Given the description of an element on the screen output the (x, y) to click on. 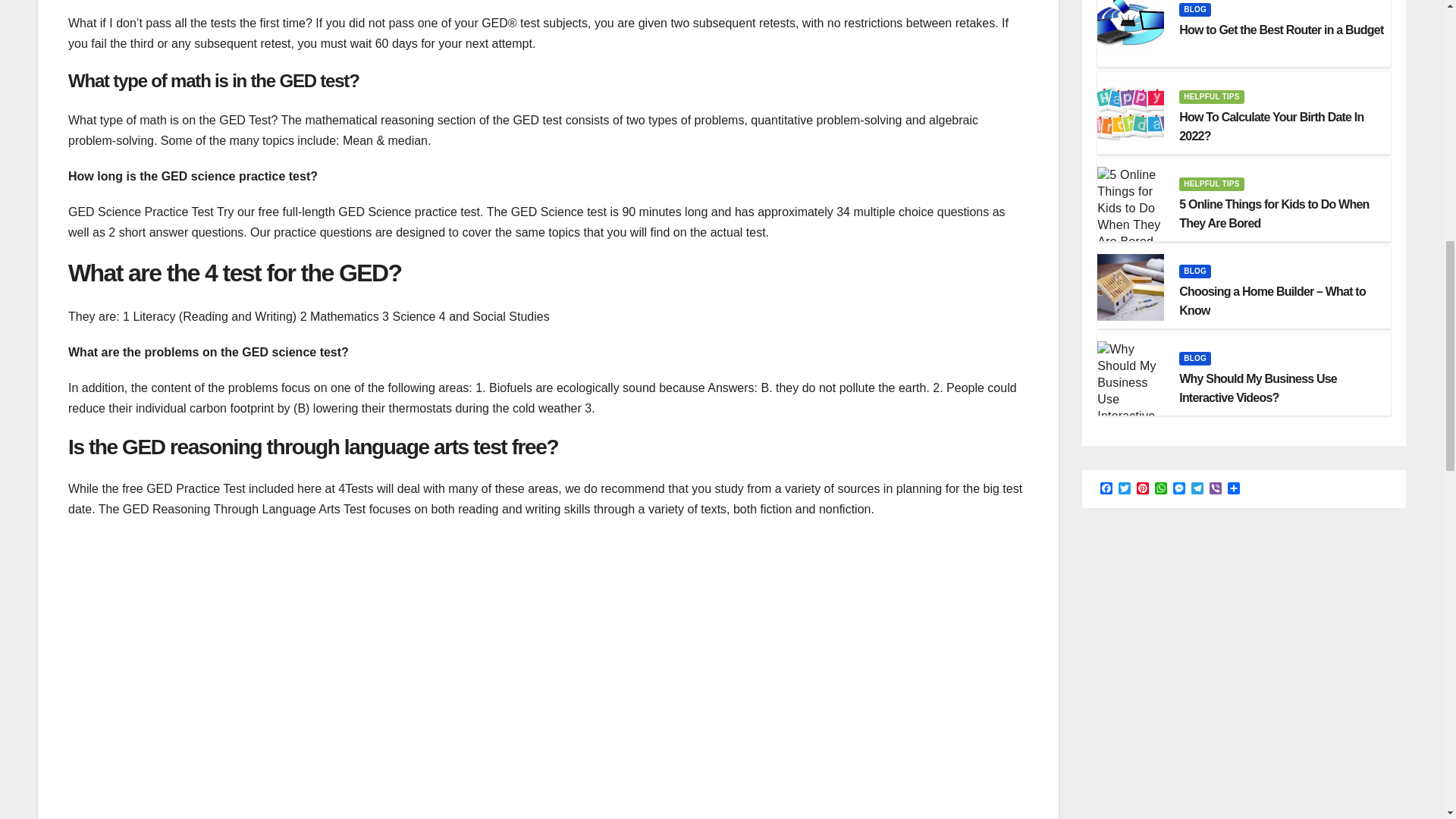
Pinterest (1142, 489)
Facebook (1106, 489)
Twitter (1124, 489)
WhatsApp (1160, 489)
